Given the description of an element on the screen output the (x, y) to click on. 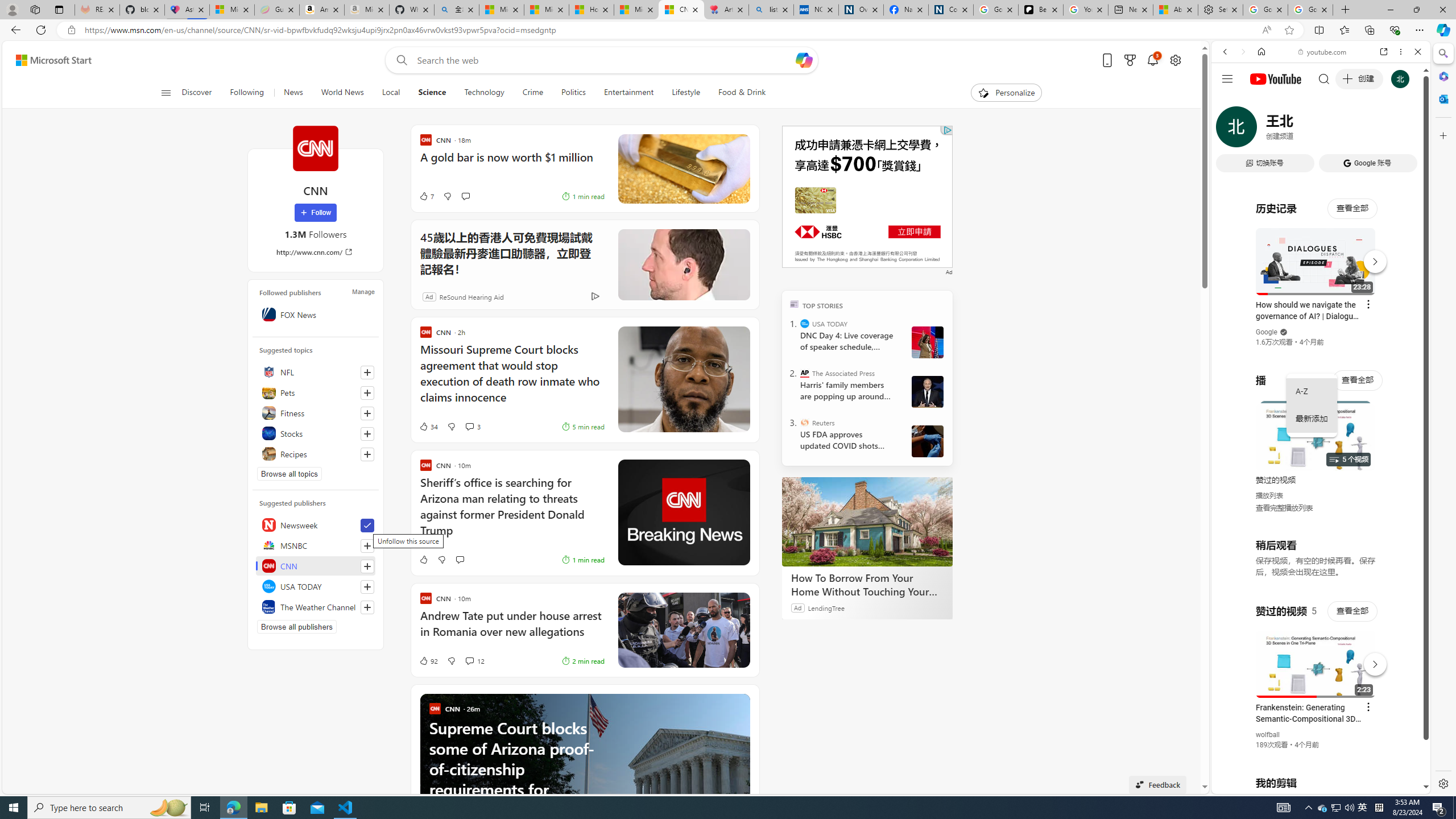
you (1315, 755)
A gold bar is now worth $1 million (511, 163)
Google (1266, 331)
Actions for this site (1371, 661)
Search Filter, VIDEOS (1300, 129)
Entertainment (628, 92)
#you (1315, 659)
Google (1320, 281)
This site scope (1259, 102)
Dislike (451, 661)
USA TODAY (315, 586)
